Given the description of an element on the screen output the (x, y) to click on. 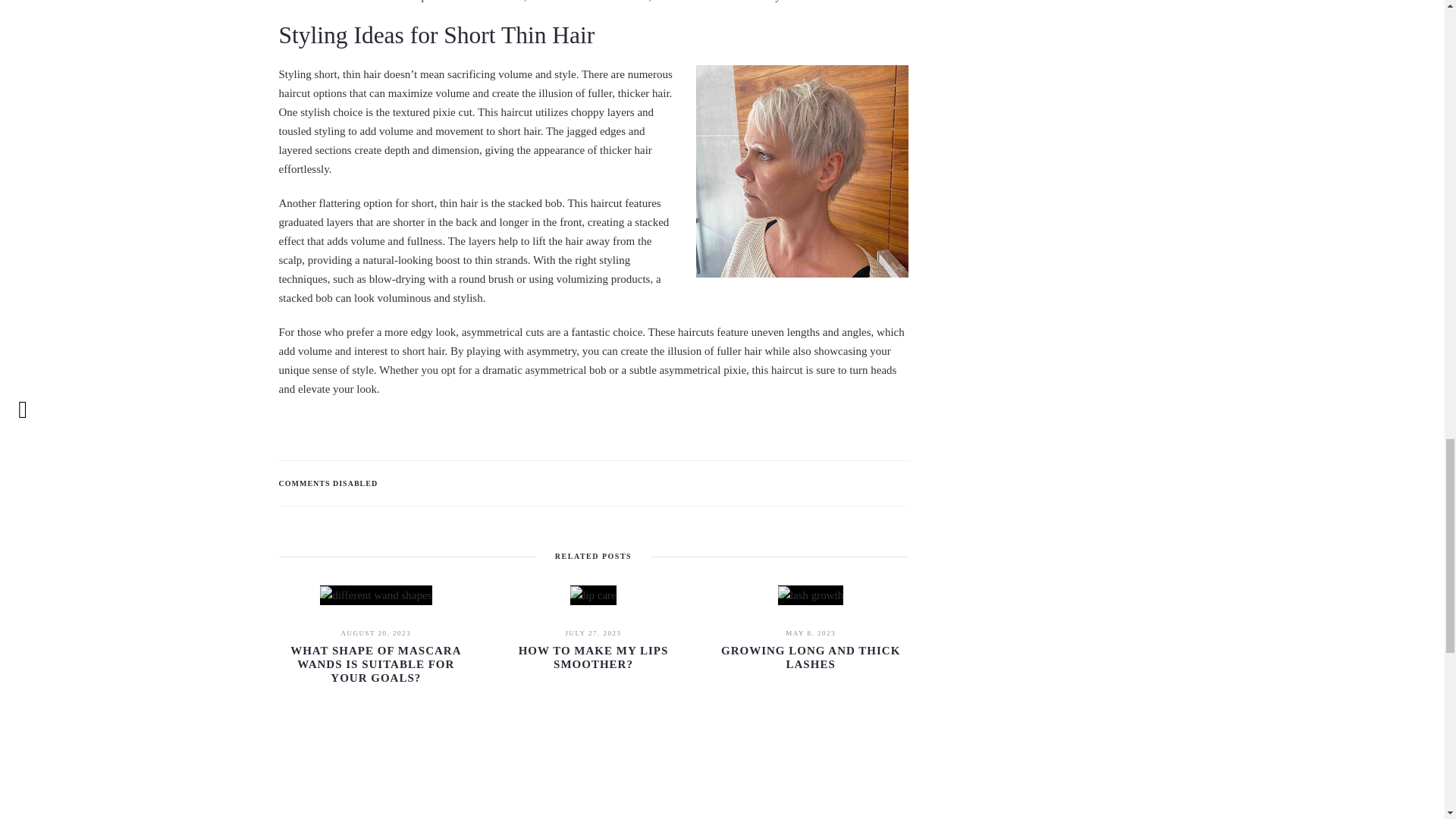
HOW TO MAKE MY LIPS SMOOTHER? (593, 657)
What Shape Of Mascara Wands Is Suitable For Your Goals? (375, 663)
GROWING LONG AND THICK LASHES (809, 657)
Growing Long And Thick Lashes (809, 657)
How To Make My Lips Smoother? (593, 657)
WHAT SHAPE OF MASCARA WANDS IS SUITABLE FOR YOUR GOALS? (375, 663)
